Given the description of an element on the screen output the (x, y) to click on. 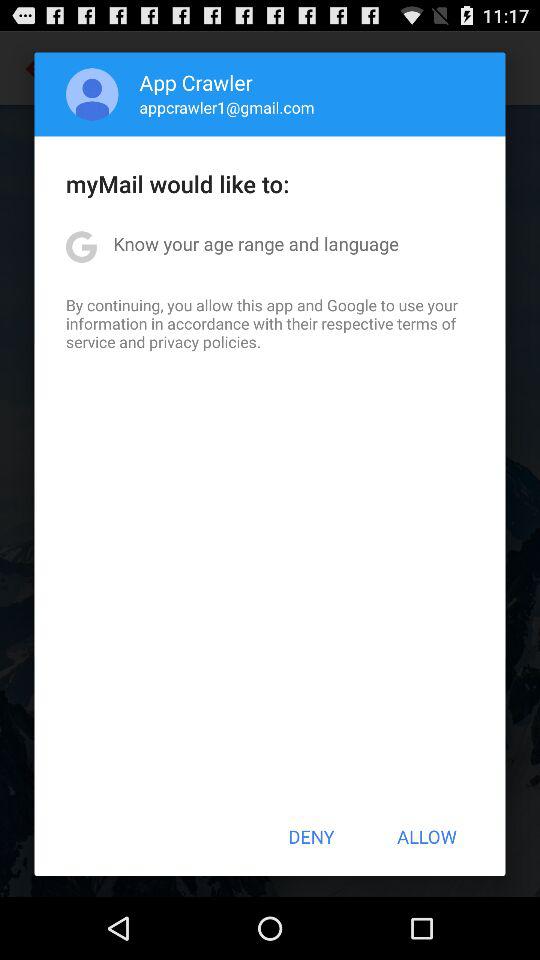
turn off the know your age app (255, 243)
